Given the description of an element on the screen output the (x, y) to click on. 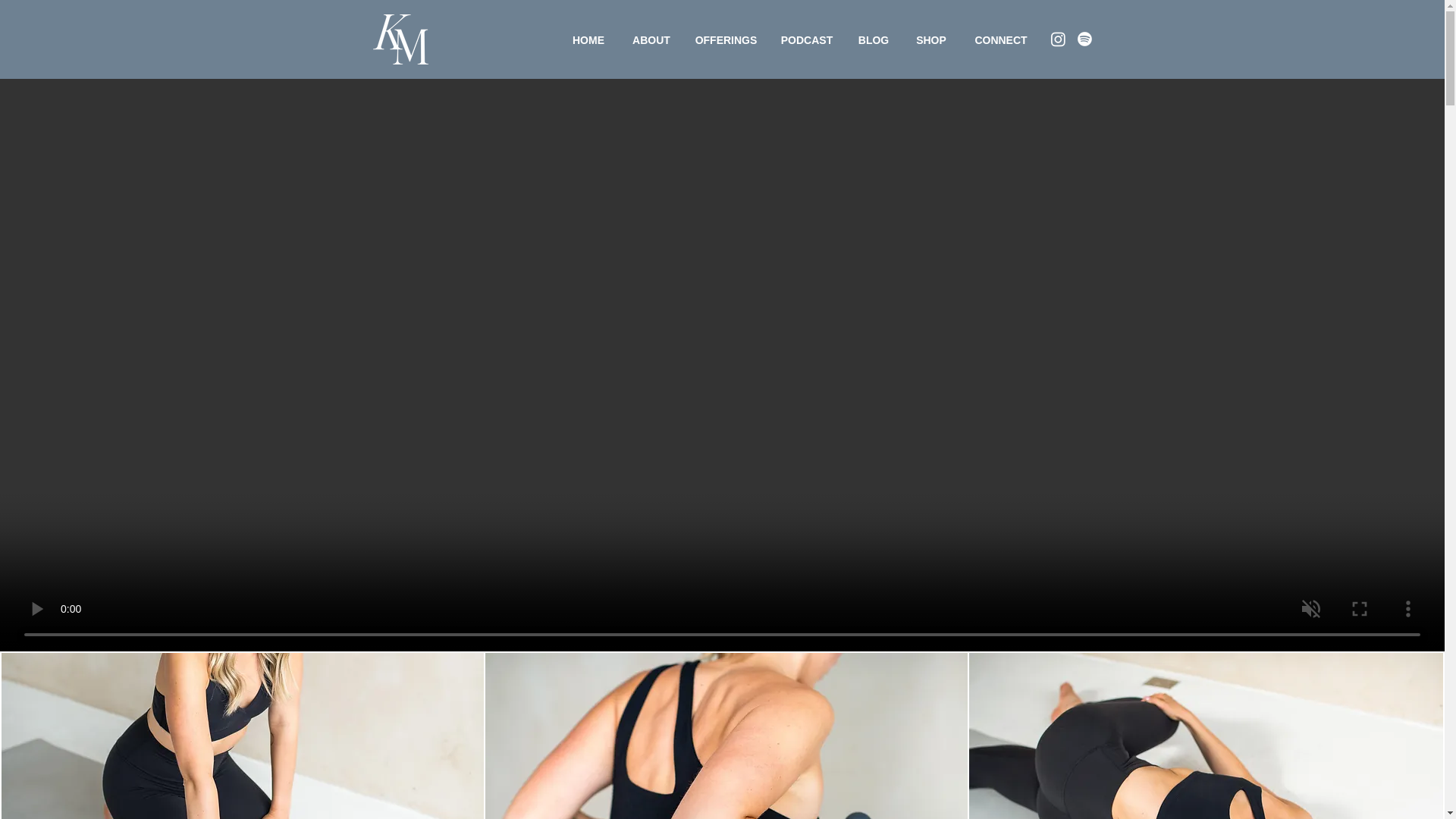
HOME (588, 40)
ABOUT (650, 40)
CONNECT (1000, 40)
PODCAST (806, 40)
BLOG (873, 40)
